Given the description of an element on the screen output the (x, y) to click on. 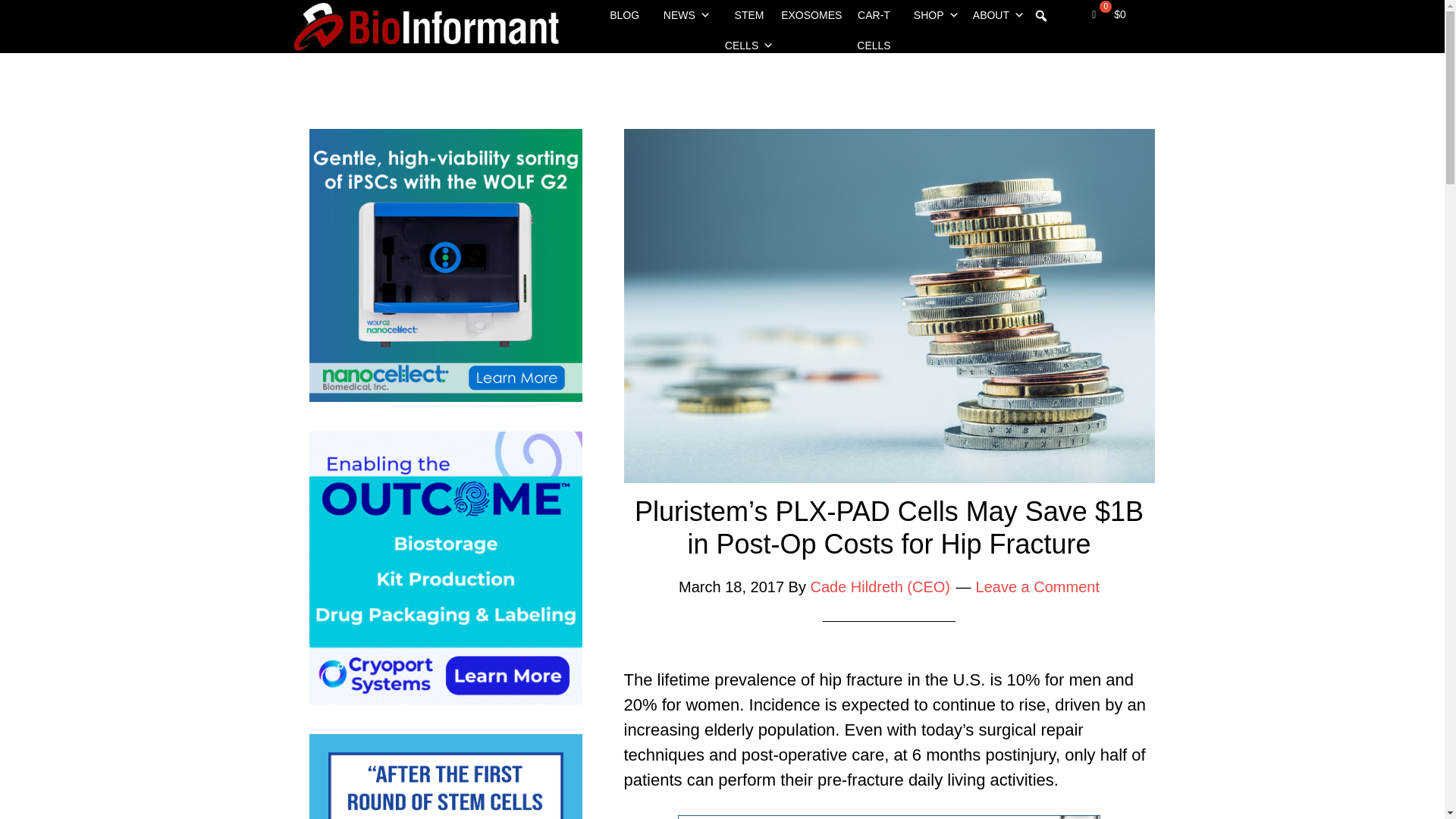
SHOP (936, 15)
CAR-T CELLS (873, 15)
ABOUT (998, 15)
BIOINFORMANT (425, 26)
NEWS (686, 15)
BLOG (623, 15)
EXOSOMES (811, 15)
STEM CELLS (748, 15)
